Given the description of an element on the screen output the (x, y) to click on. 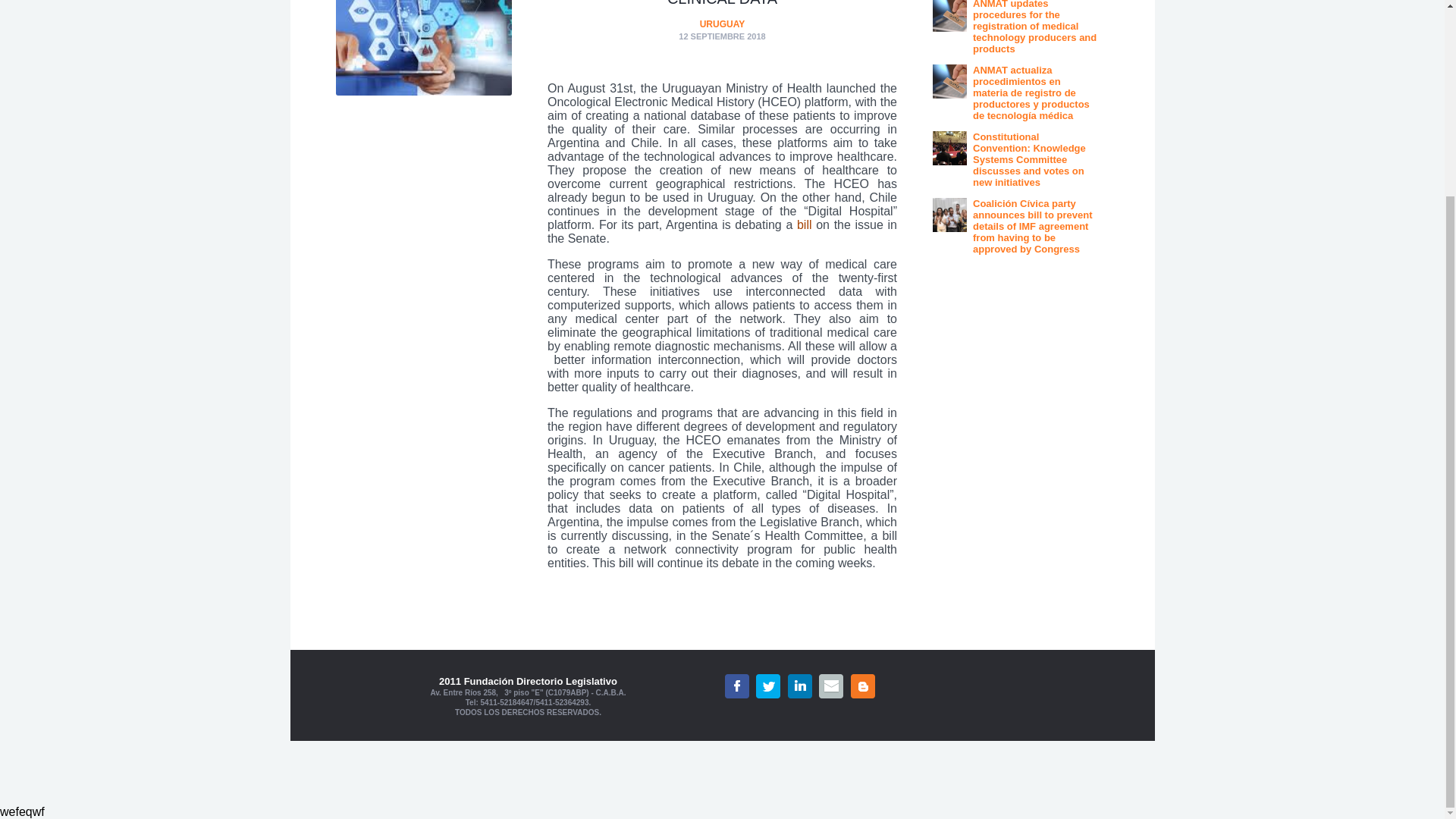
bill (804, 224)
